Given the description of an element on the screen output the (x, y) to click on. 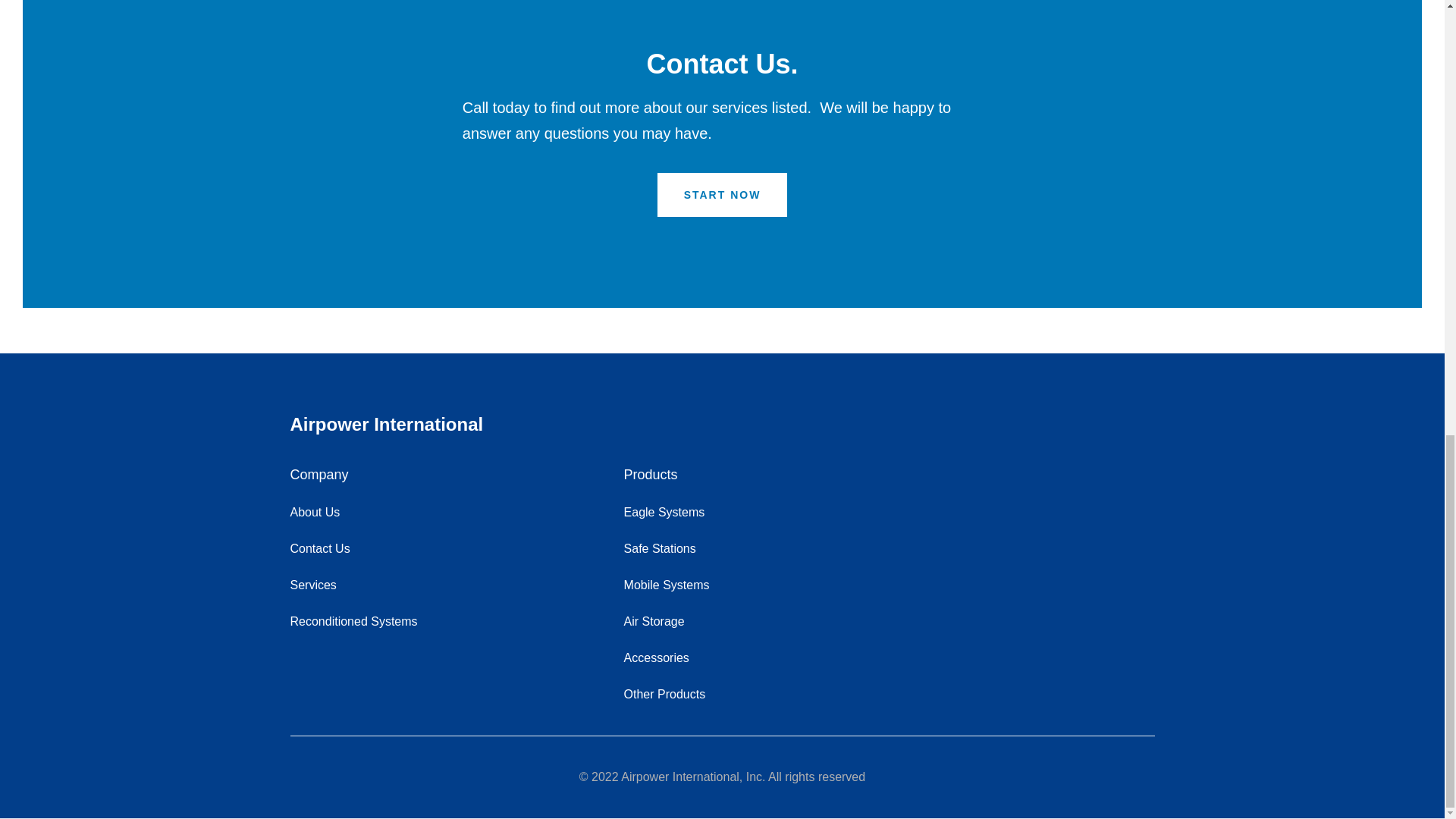
Services (312, 585)
About Us (314, 512)
Eagle Systems (664, 512)
Air Storage (654, 621)
Contact Us (319, 548)
Safe Stations (659, 548)
START NOW (722, 194)
Other Products (665, 694)
Airpower International (721, 424)
Mobile Systems (667, 585)
Accessories (656, 658)
Reconditioned Systems (352, 621)
